Given the description of an element on the screen output the (x, y) to click on. 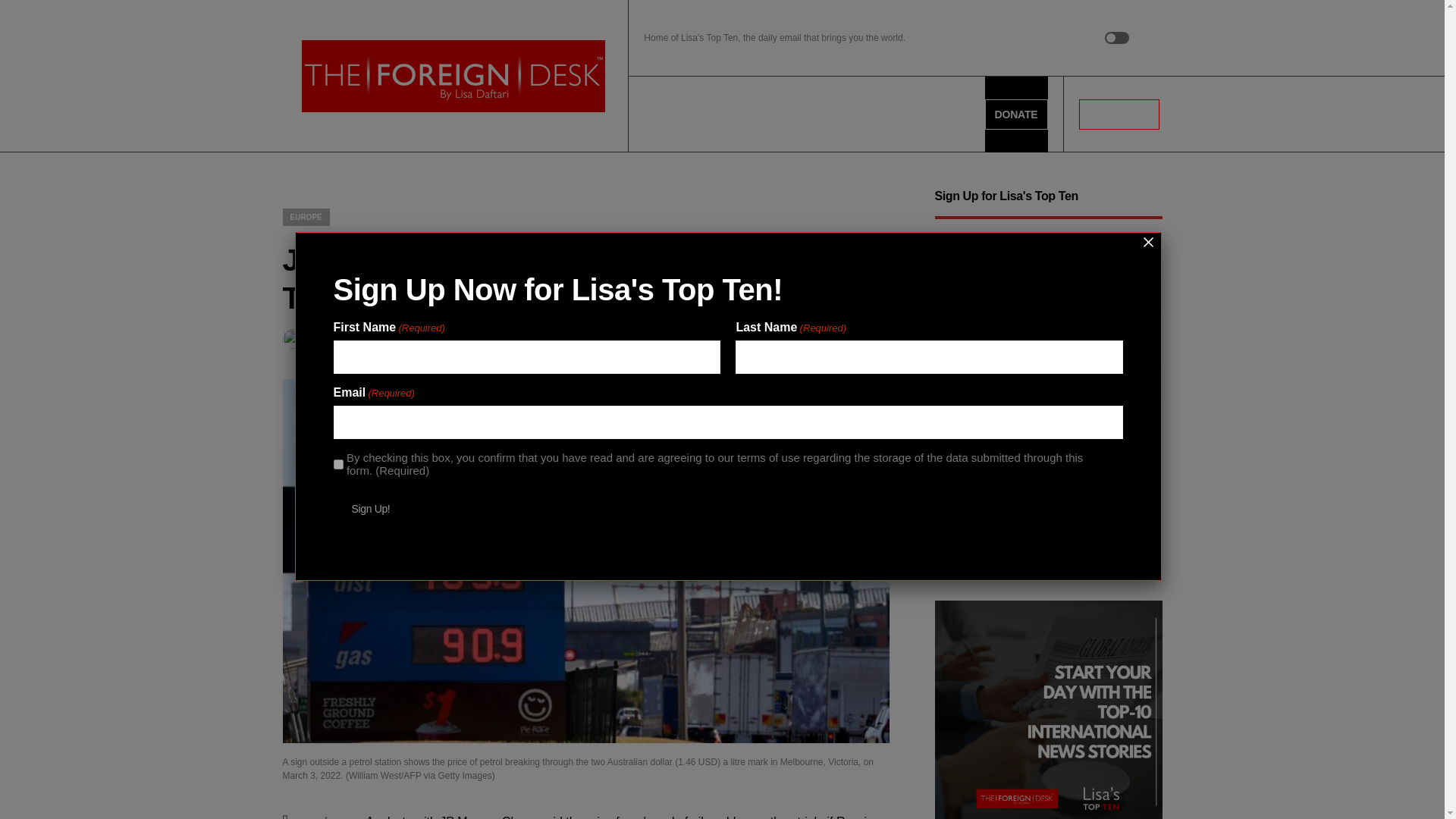
Sign Up! (371, 508)
View all posts by The Epoch Times (335, 338)
Sign Up! (971, 530)
